Given the description of an element on the screen output the (x, y) to click on. 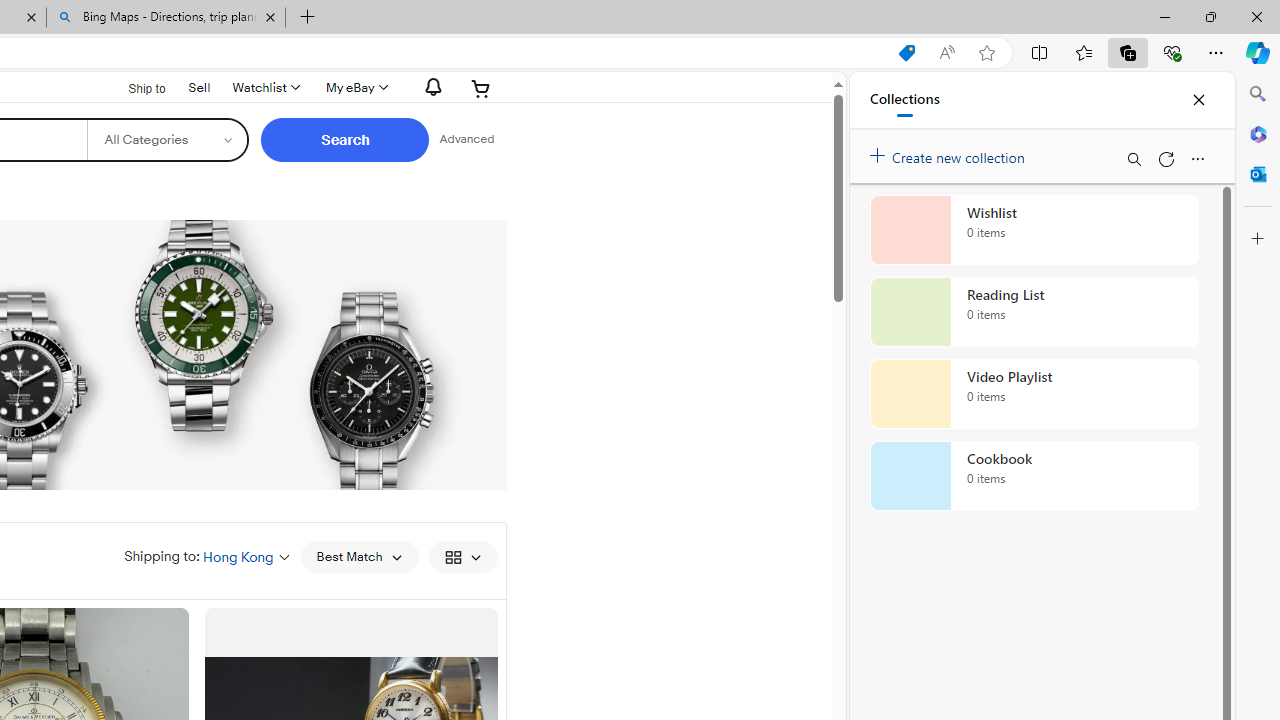
Reading List collection, 0 items (1034, 312)
Video Playlist collection, 0 items (1034, 394)
Select a category for search (167, 139)
Advanced Search (466, 139)
Ship to (134, 89)
